Given the description of an element on the screen output the (x, y) to click on. 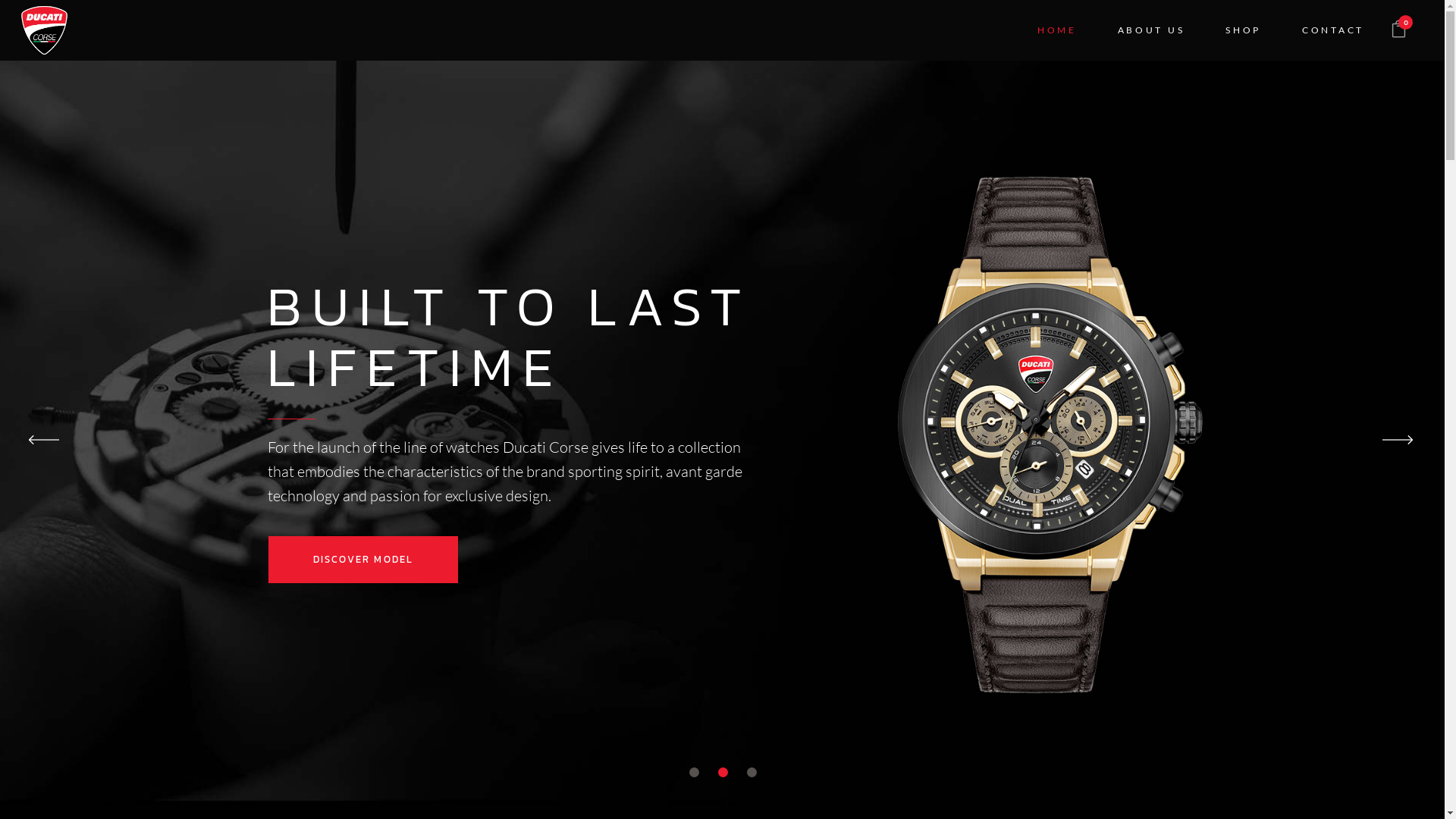
0 Element type: text (1398, 29)
ABOUT US Element type: text (1151, 30)
HOME Element type: text (1056, 30)
CONTACT Element type: text (1332, 30)
DISCOVER MODEL Element type: text (363, 559)
SHOP Element type: text (1242, 30)
